Given the description of an element on the screen output the (x, y) to click on. 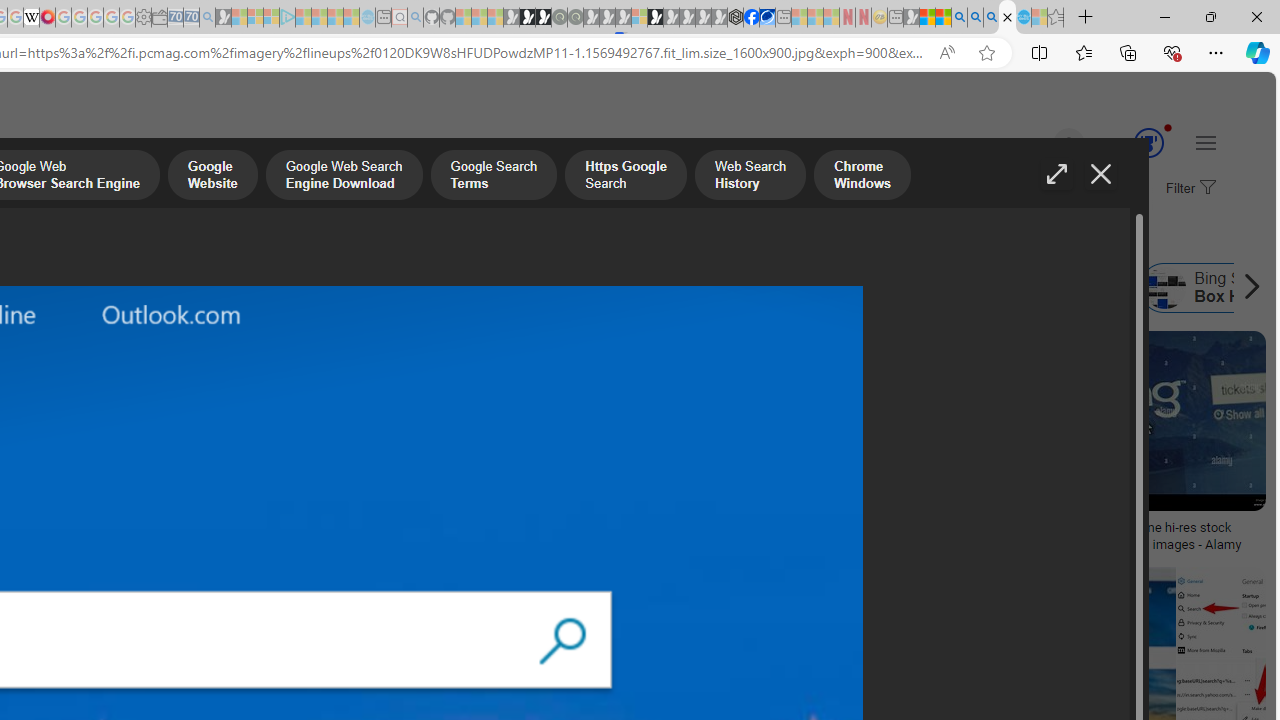
Bing Web (881, 287)
Bing Best Search Engine (86, 287)
Bing Home Search Site (996, 287)
2009 Bing officially replaced Live Search on June 3 - Search (975, 17)
MediaWiki (47, 17)
